Given the description of an element on the screen output the (x, y) to click on. 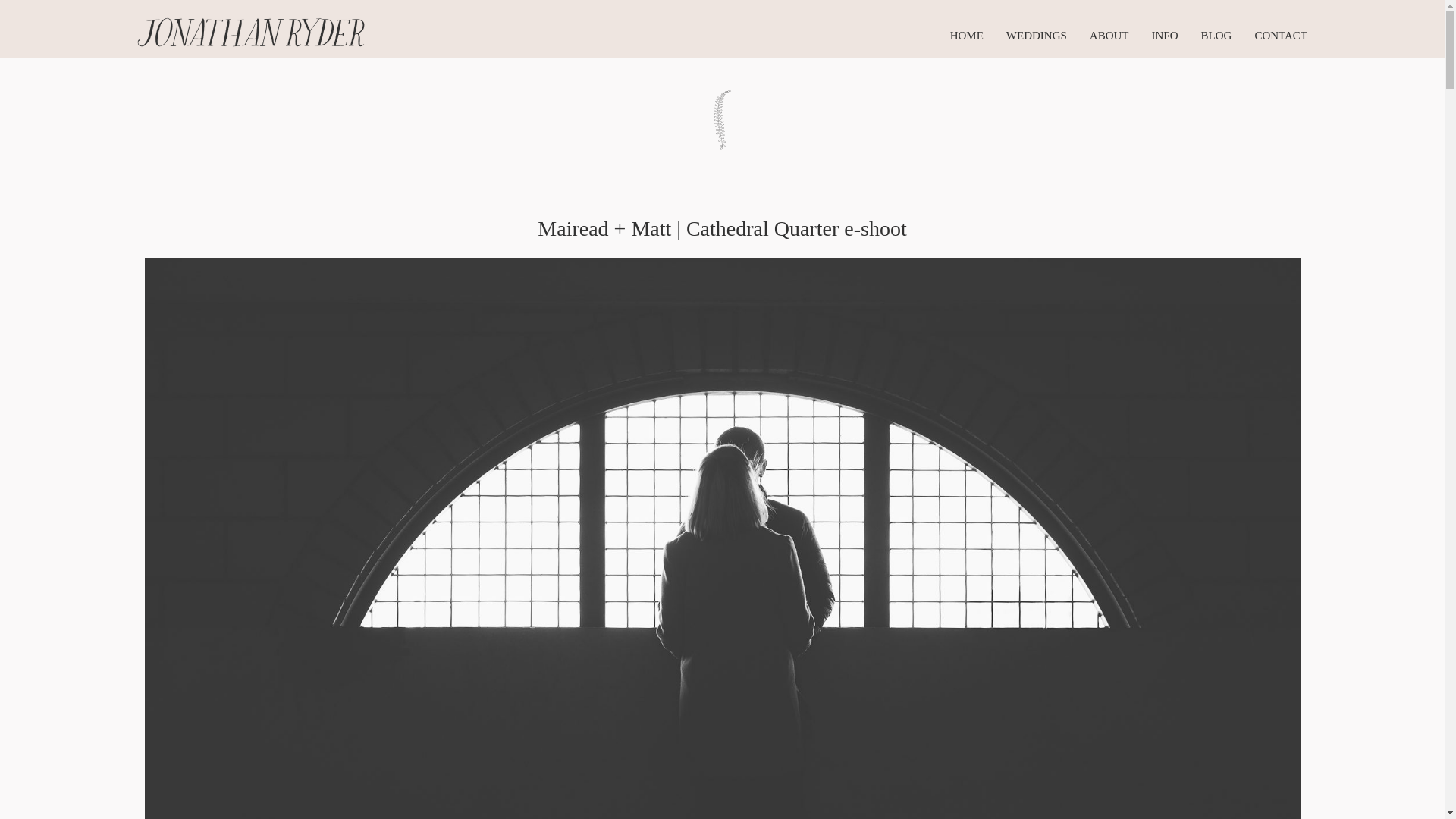
INFO (1164, 35)
BLOG (1216, 35)
HOME (967, 35)
ABOUT (1109, 35)
WEDDINGS (1036, 35)
CONTACT (1280, 35)
